Given the description of an element on the screen output the (x, y) to click on. 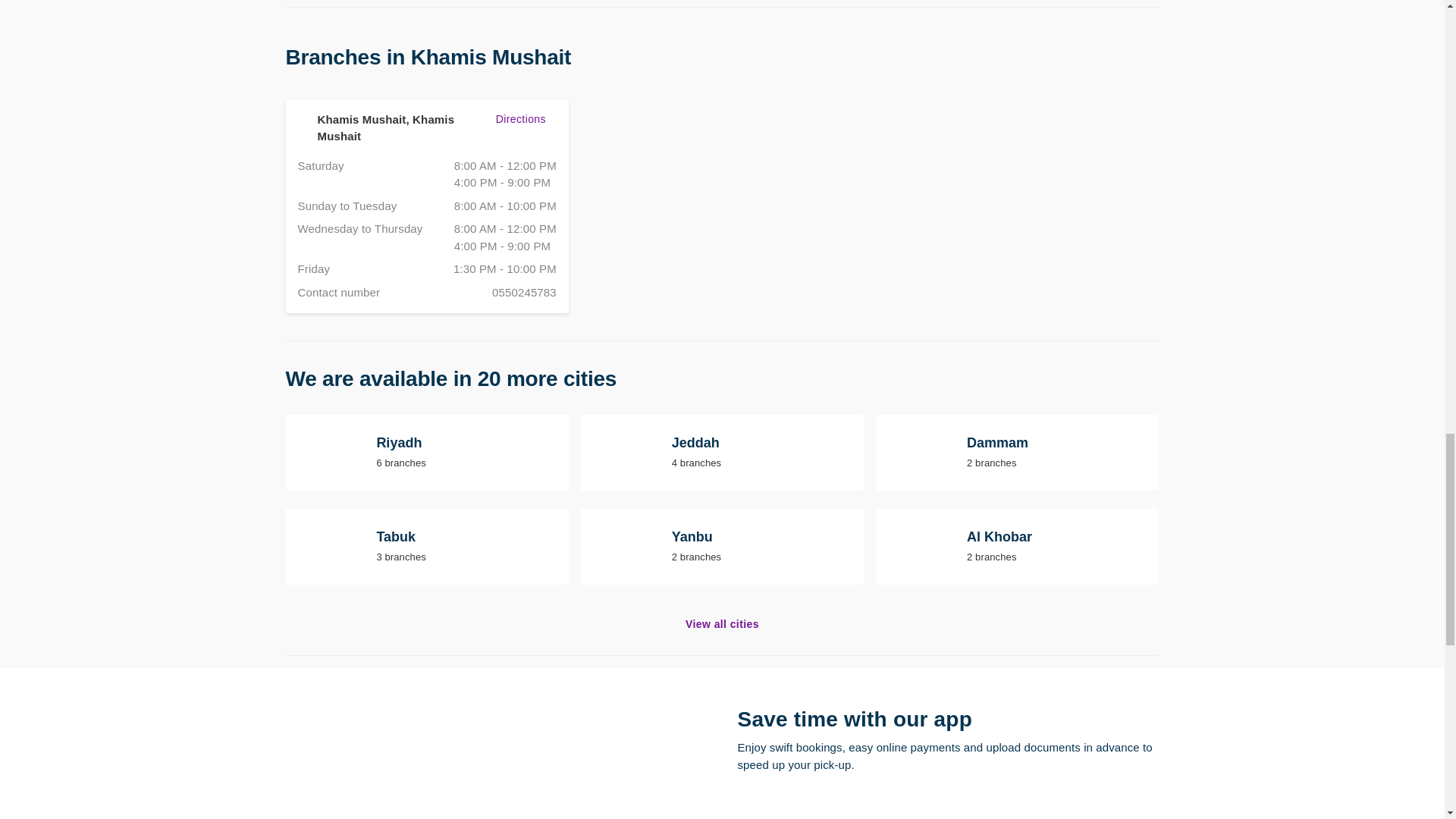
Tabuk (721, 546)
Lumi Android App (721, 452)
Jeddah (426, 546)
Khamis Mushait (919, 817)
Riyadh (721, 452)
View all cities (426, 206)
Al Khobar (426, 452)
Directions (722, 624)
